Given the description of an element on the screen output the (x, y) to click on. 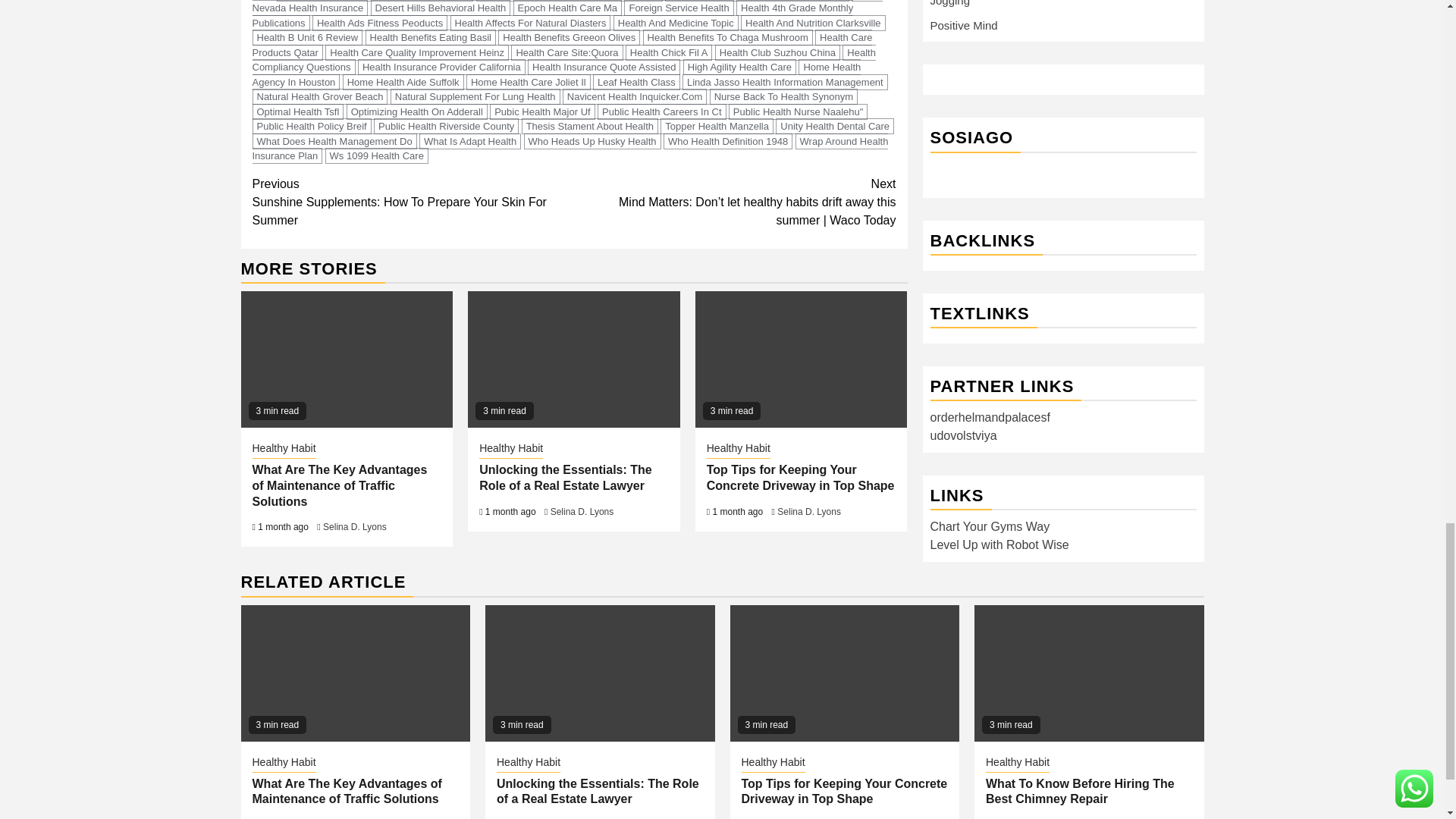
Desert Hills Behavioral Health (441, 7)
Health And Medicine Topic (675, 23)
Cover Nevada Health Insurance (566, 8)
Health Benefits Eating Basil (430, 37)
Health Care Products Qatar (561, 44)
Foreign Service Health (678, 7)
Health Benefits Greeon Olives (568, 37)
Health Benefits To Chaga Mushroom (727, 37)
Health And Nutrition Clarksville (813, 23)
Health 4th Grade Monthly Publications (552, 15)
Epoch Health Care Ma (568, 7)
Health Affects For Natural Diasters (530, 23)
Health Ads Fitness Peoducts (379, 23)
